Given the description of an element on the screen output the (x, y) to click on. 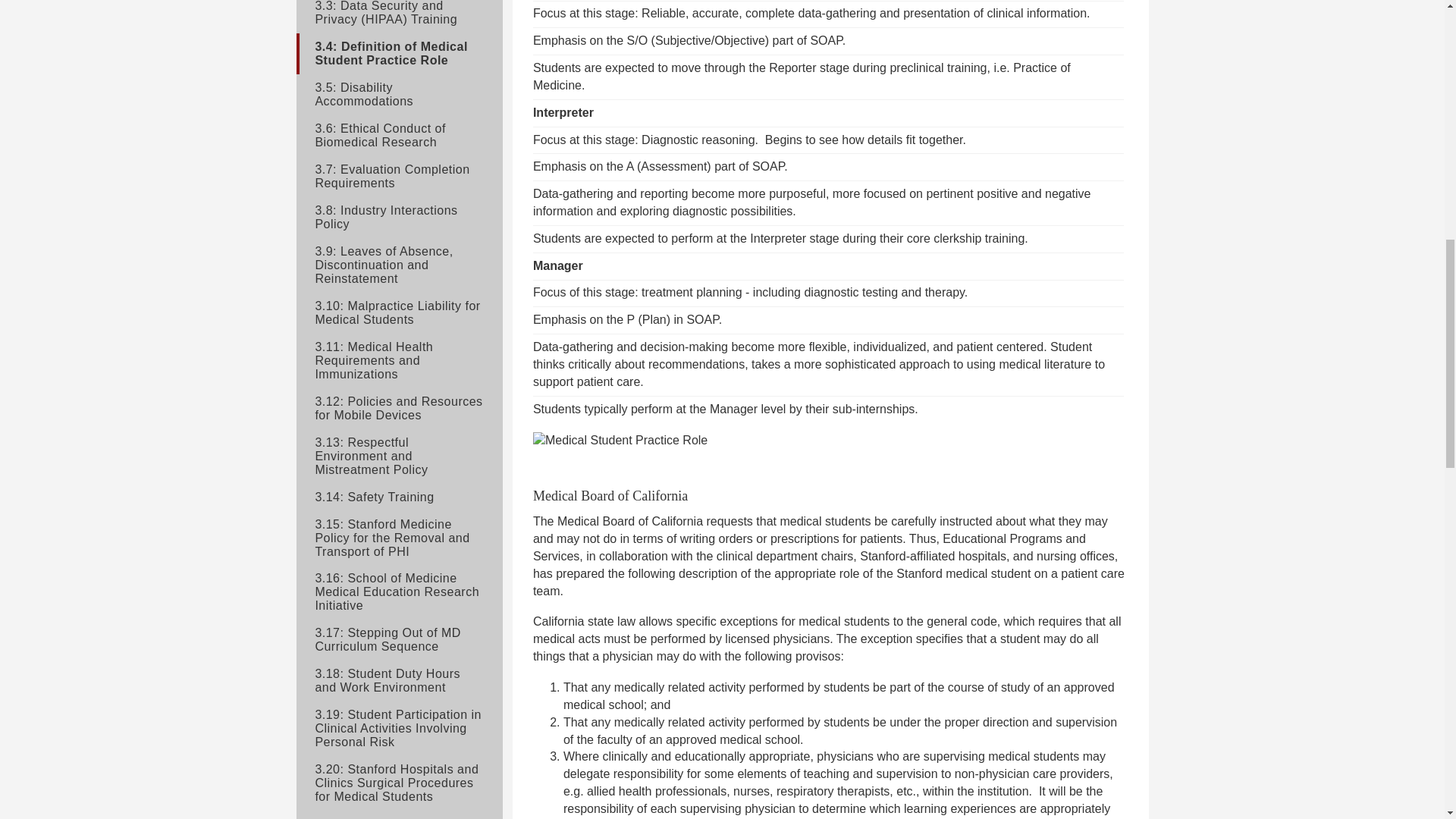
Medical Student Practice Role  (619, 440)
